Given the description of an element on the screen output the (x, y) to click on. 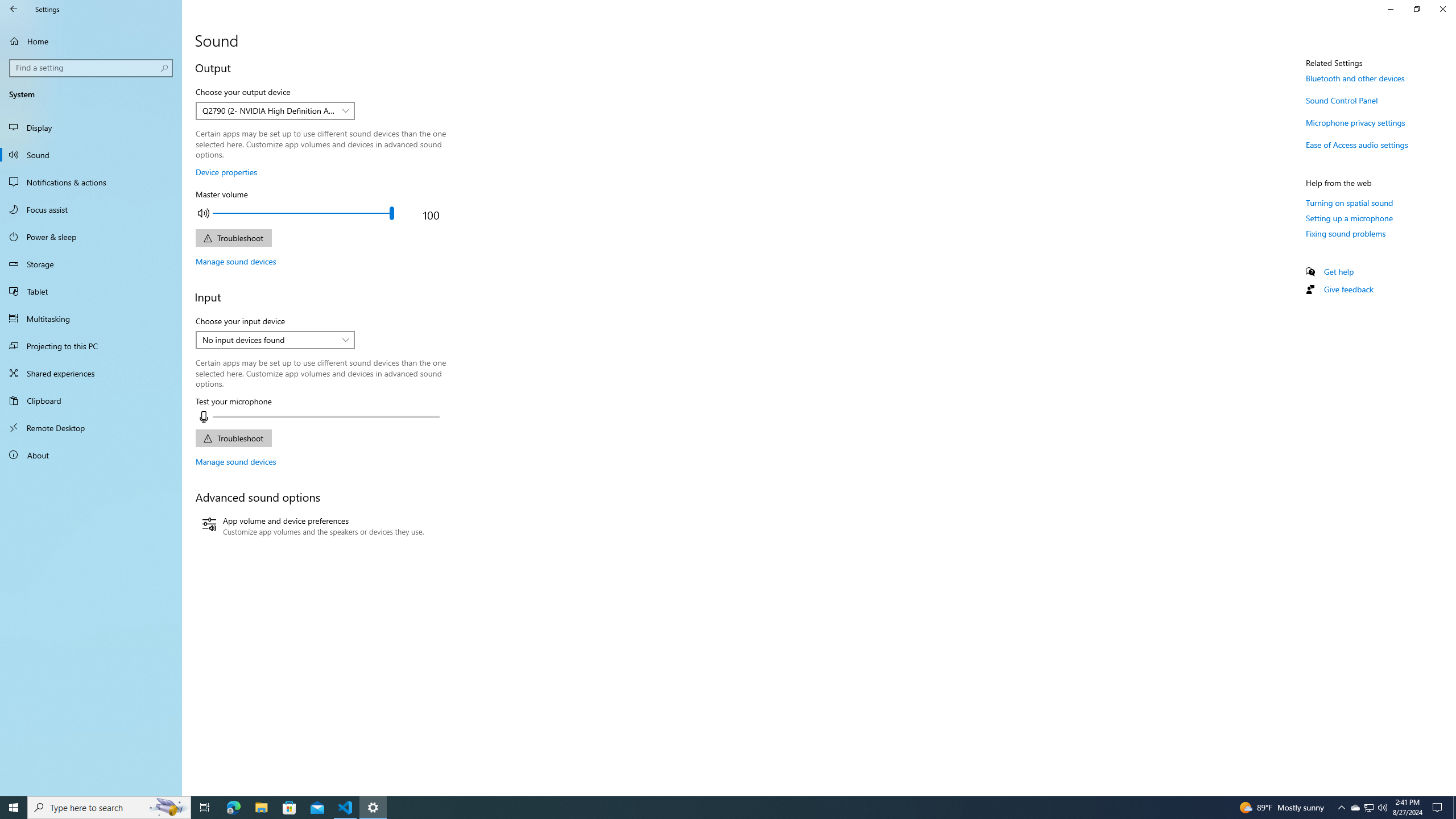
Microphone privacy settings (1355, 122)
Ease of Access audio settings (1356, 144)
Power & sleep (91, 236)
Device properties (226, 171)
Output device troubleshoot (233, 237)
App volume and device preferences (312, 526)
Projecting to this PC (91, 345)
